Given the description of an element on the screen output the (x, y) to click on. 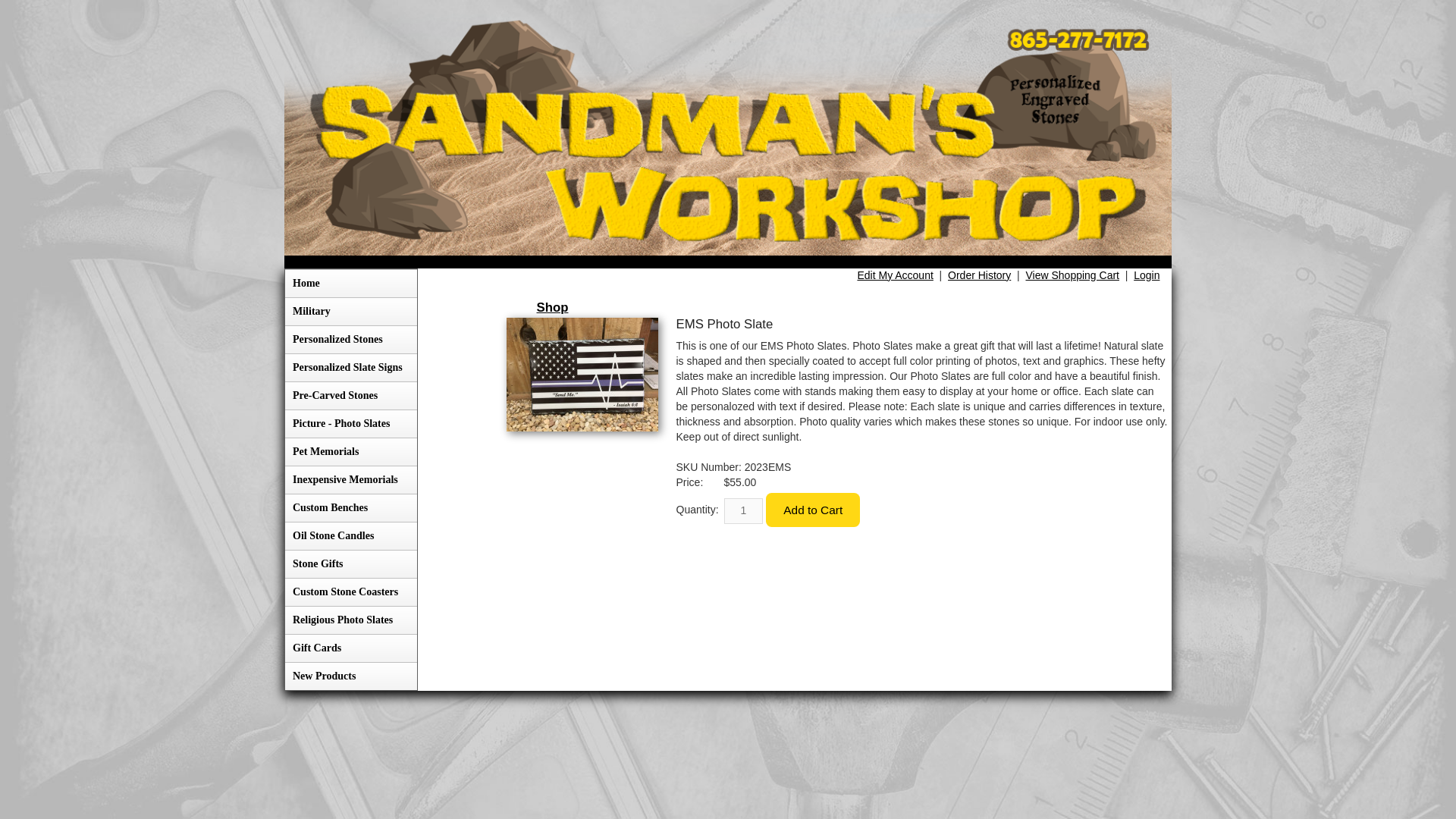
Military (350, 311)
Home (350, 283)
EMS Photo Slate (582, 374)
Pre-Carved Stones (350, 395)
Custom Stone Coasters (350, 592)
Picture - Photo Slates (350, 423)
Religious Photo Slates (350, 619)
Personalized Stones (350, 338)
Personalized Slate Signs (350, 366)
Pet Memorials (350, 451)
